Given the description of an element on the screen output the (x, y) to click on. 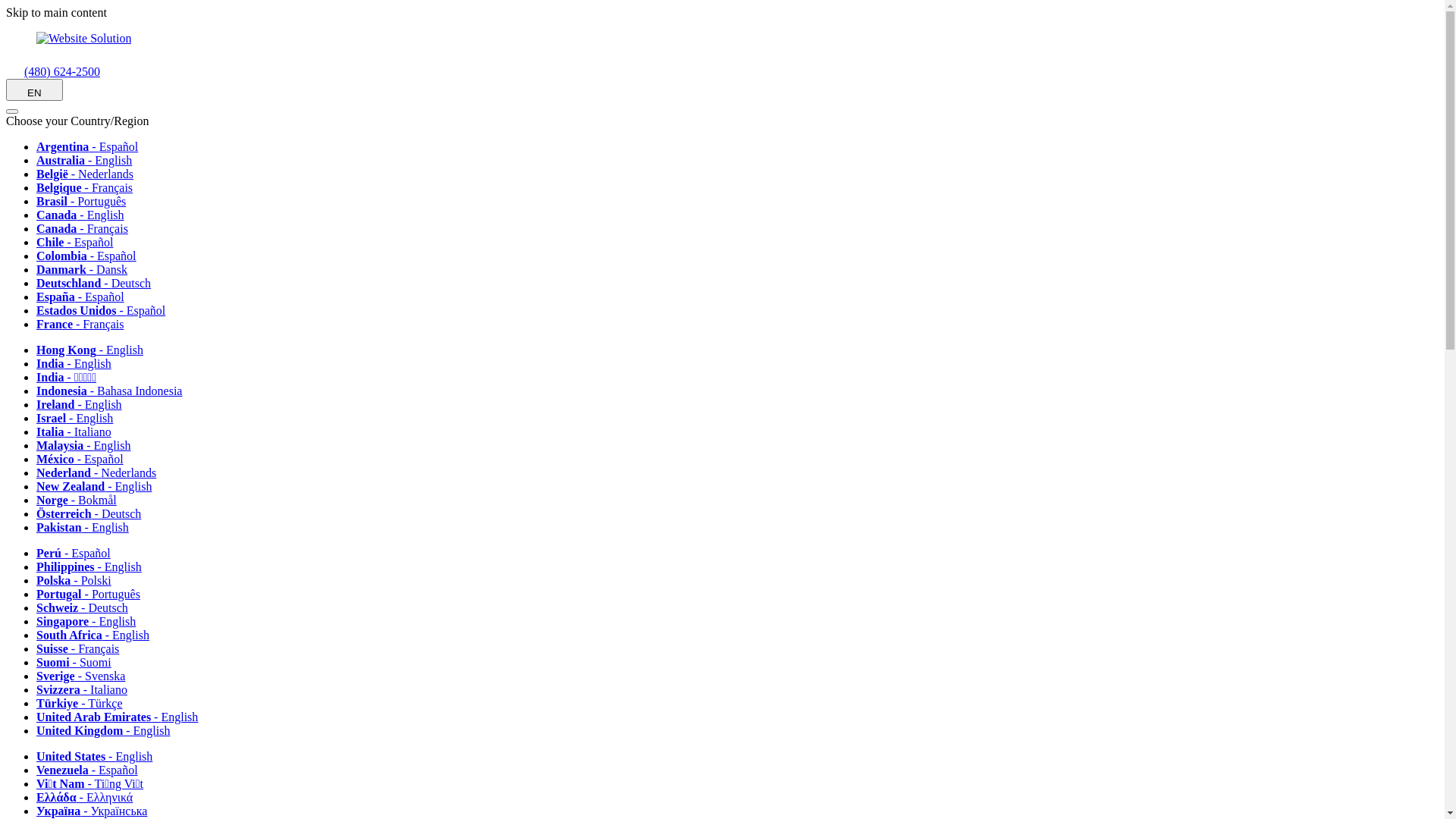
Deutschland - Deutsch Element type: text (98, 282)
Nederland - Nederlands Element type: text (101, 472)
Skip to main content Element type: text (56, 12)
New Zealand - English Element type: text (99, 486)
Contact Us Element type: hover (15, 71)
(480) 624-2500 Element type: text (53, 71)
Malaysia - English Element type: text (88, 445)
Israel - English Element type: text (79, 417)
United Kingdom - English Element type: text (108, 730)
Pakistan - English Element type: text (87, 526)
EN Element type: text (34, 89)
Indonesia - Bahasa Indonesia Element type: text (114, 390)
South Africa - English Element type: text (98, 634)
Singapore - English Element type: text (91, 621)
Hong Kong - English Element type: text (94, 349)
Danmark - Dansk Element type: text (87, 269)
Australia - English Element type: text (89, 159)
Polska - Polski Element type: text (79, 580)
Philippines - English Element type: text (94, 566)
United States - English Element type: text (99, 755)
Suomi - Suomi Element type: text (79, 661)
India - English Element type: text (79, 363)
United Arab Emirates - English Element type: text (122, 716)
Italia - Italiano Element type: text (79, 431)
Svizzera - Italiano Element type: text (87, 689)
Schweiz - Deutsch Element type: text (87, 607)
Ireland - English Element type: text (84, 404)
Canada - English Element type: text (85, 214)
Sverige - Svenska Element type: text (85, 675)
